Given the description of an element on the screen output the (x, y) to click on. 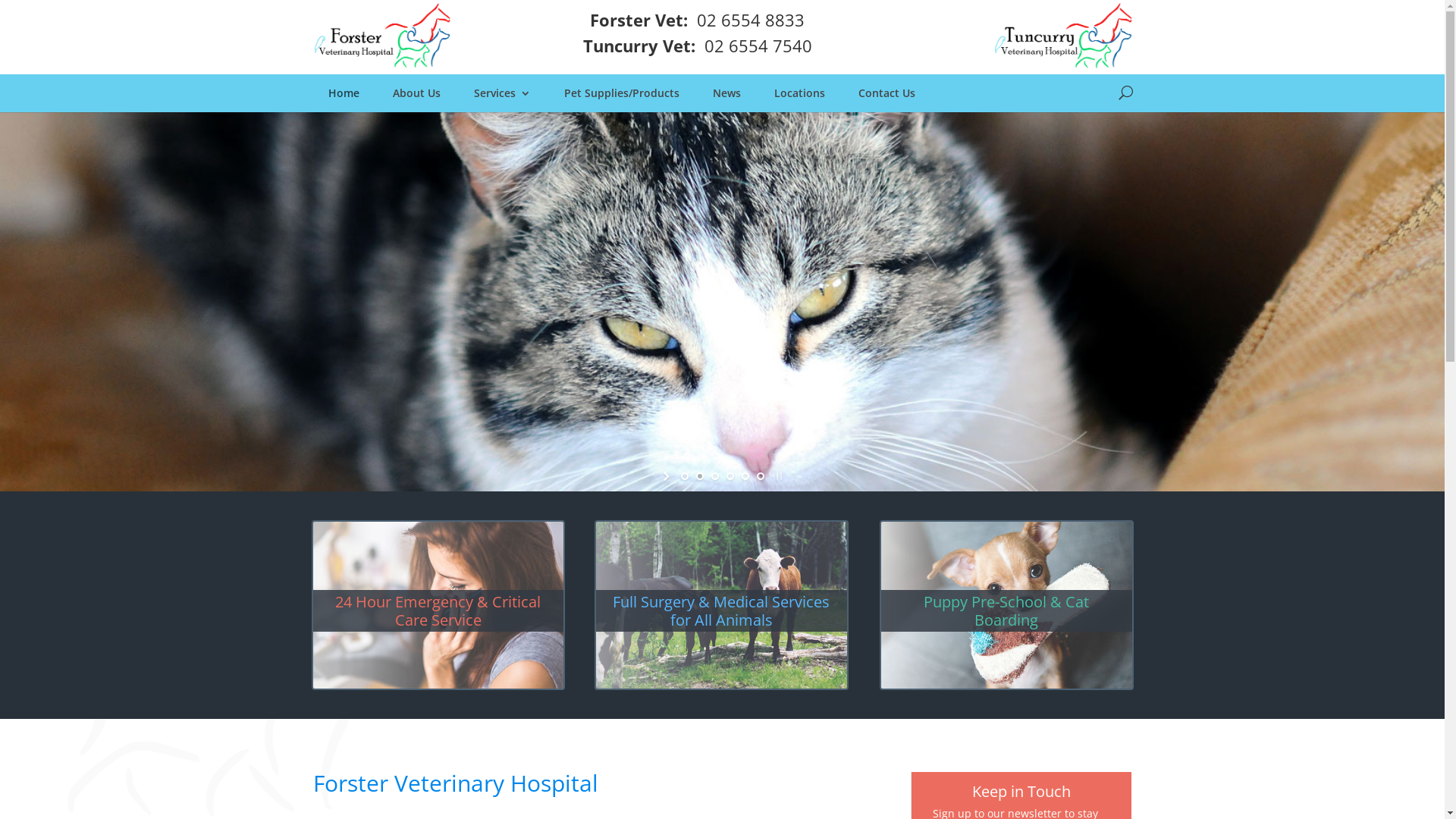
Pet Supplies/Products Element type: text (621, 92)
02 6554 8833 Element type: text (750, 19)
Contact Us Element type: text (886, 92)
Locations Element type: text (798, 92)
Home Element type: text (342, 92)
About Us Element type: text (416, 92)
Services Element type: text (501, 92)
Facebook Element type: hover (859, 35)
02 6554 7540 Element type: text (757, 45)
News Element type: text (726, 92)
